Given the description of an element on the screen output the (x, y) to click on. 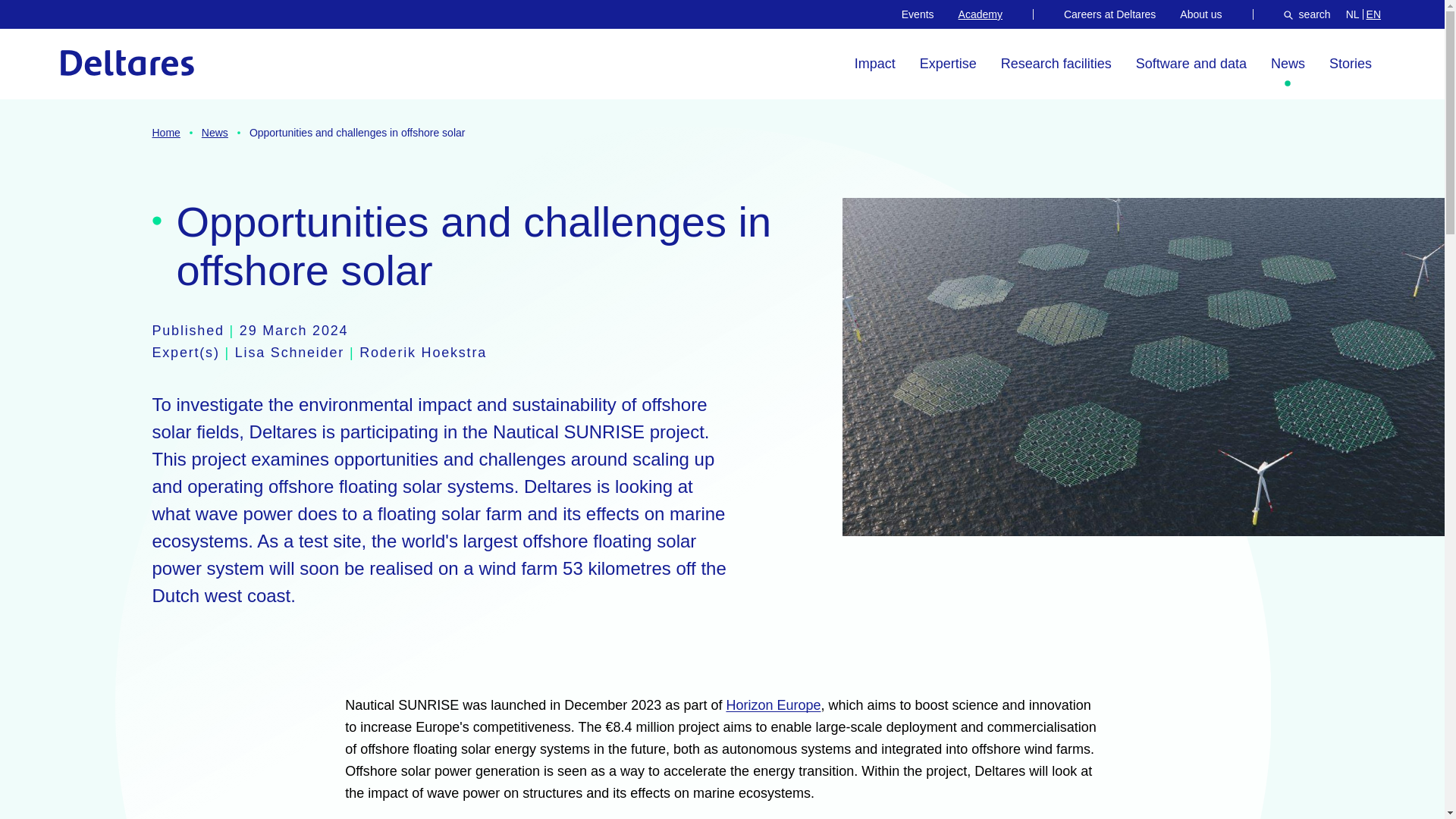
News (1287, 64)
Academy (980, 14)
Research facilities (1056, 64)
Impact (874, 64)
search (1307, 14)
Stories (1350, 64)
Expertise (948, 64)
To the homepage (127, 62)
Events (917, 14)
Naar hoofdcontent (84, 22)
Careers at Deltares (1110, 14)
Naar hoofdcontent (84, 22)
About us (1200, 14)
Software and data (1190, 64)
